Given the description of an element on the screen output the (x, y) to click on. 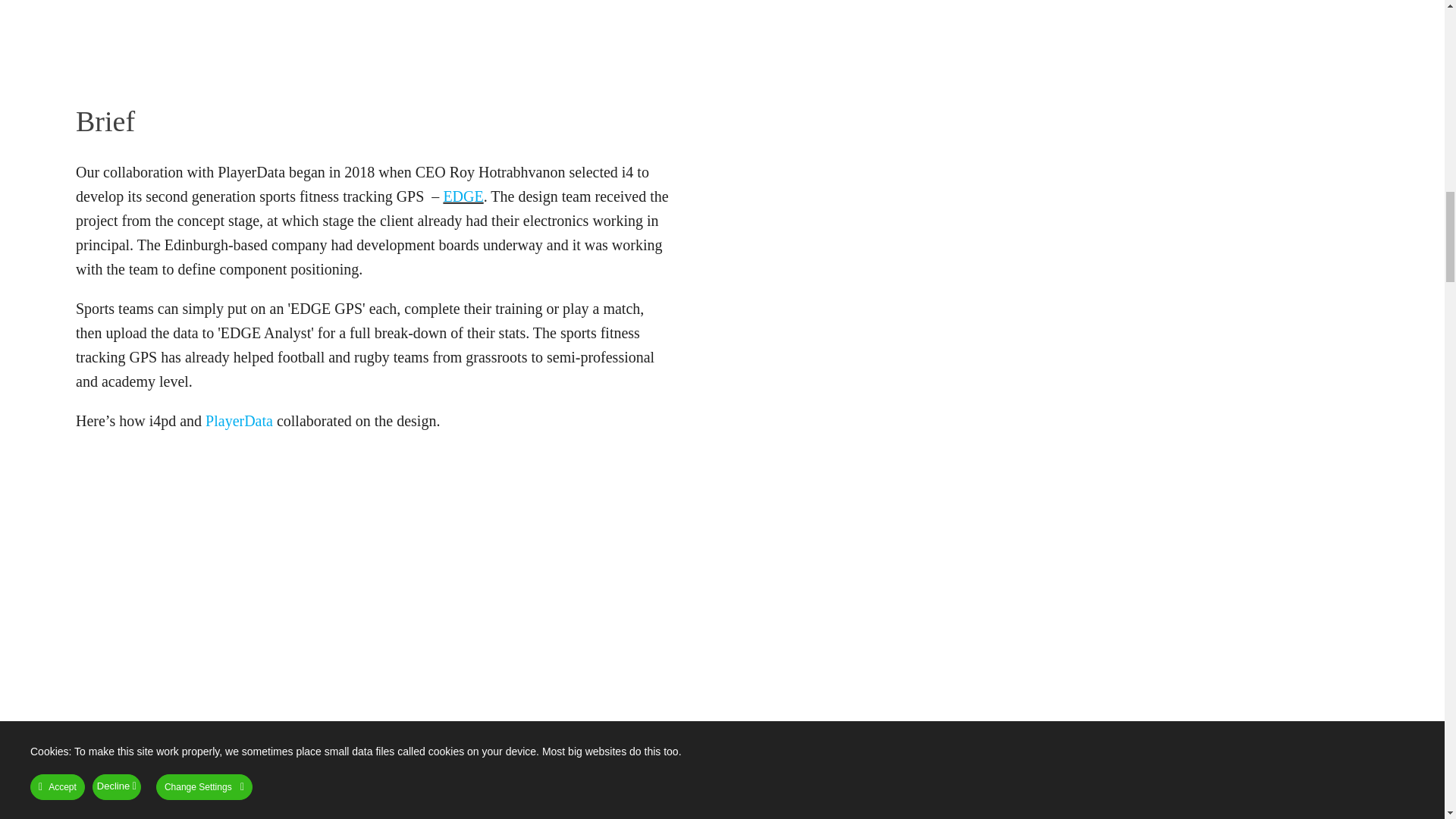
EDGE (462, 195)
PlayerData (239, 419)
